Given the description of an element on the screen output the (x, y) to click on. 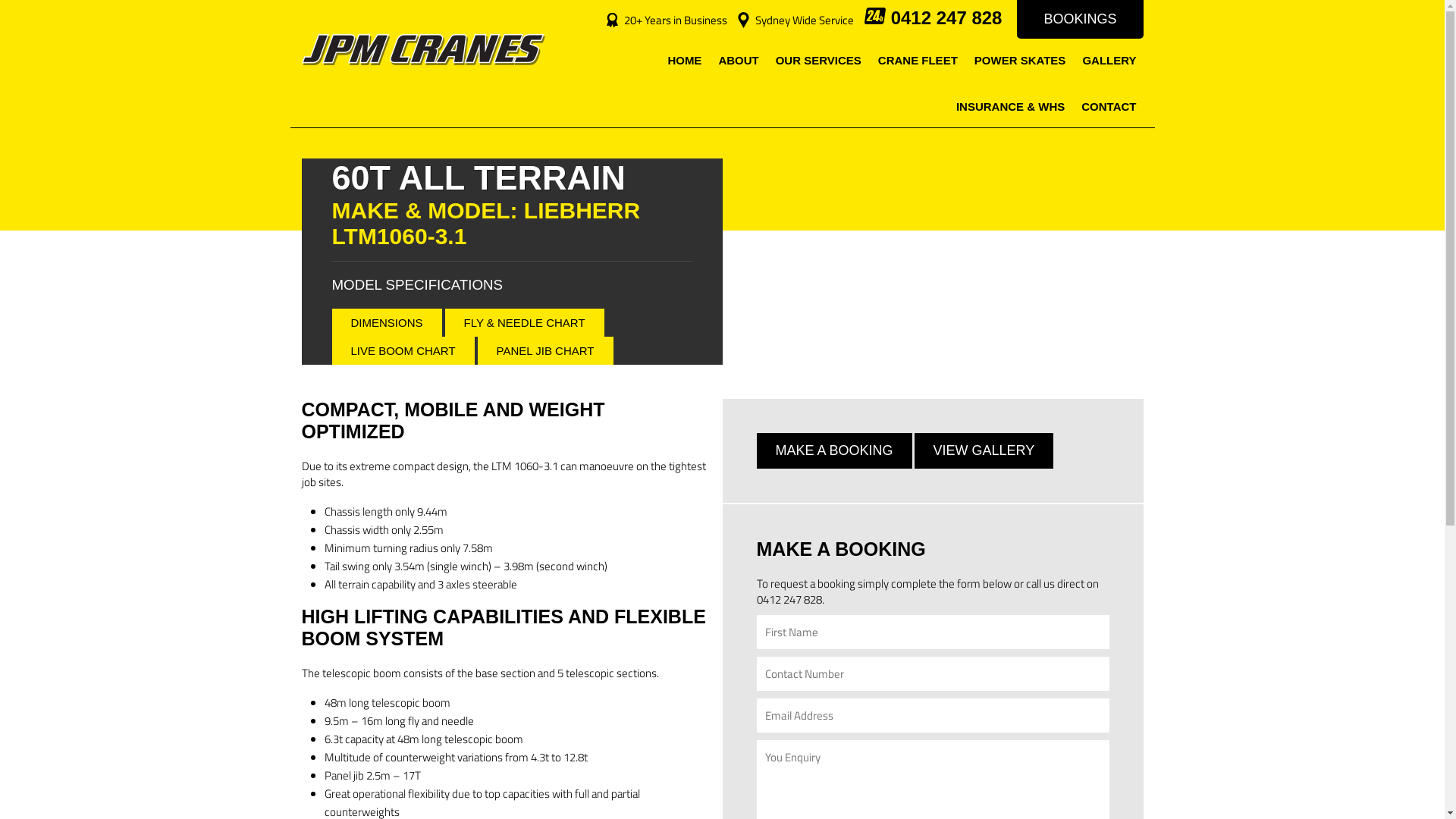
LIVE BOOM CHART Element type: text (403, 350)
HOME Element type: text (684, 61)
GALLERY Element type: text (1108, 61)
ABOUT Element type: text (738, 61)
CRANE FLEET Element type: text (917, 61)
FLY & NEEDLE CHART Element type: text (524, 322)
BOOKINGS Element type: text (1079, 19)
POWER SKATES Element type: text (1020, 61)
MAKE A BOOKING Element type: text (834, 450)
PANEL JIB CHART Element type: text (545, 350)
INSURANCE & WHS Element type: text (1010, 107)
OUR SERVICES Element type: text (818, 61)
CONTACT Element type: text (1108, 107)
DIMENSIONS Element type: text (387, 322)
VIEW GALLERY Element type: text (984, 450)
